Given the description of an element on the screen output the (x, y) to click on. 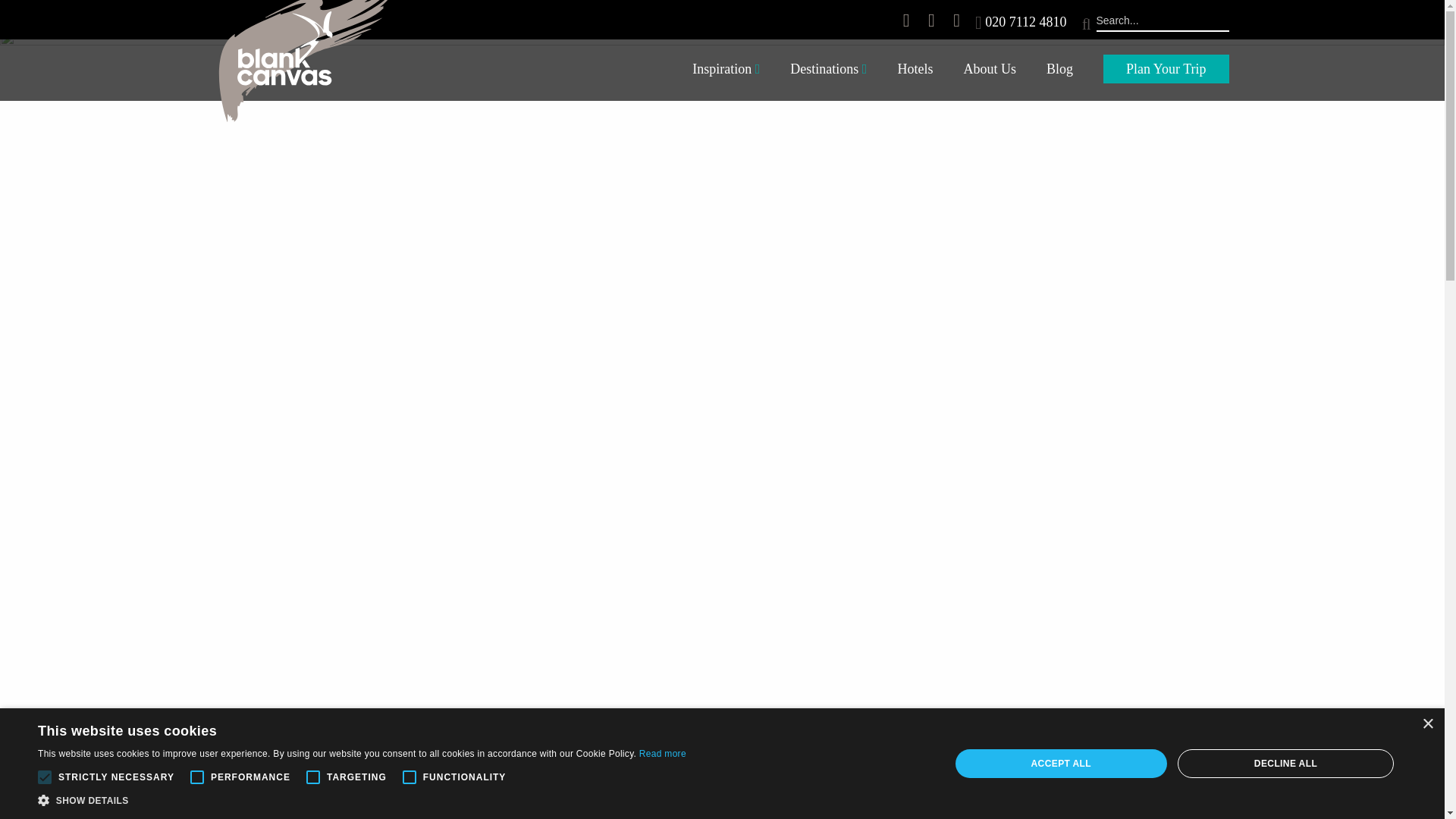
Customer reviews powered by Trustpilot (512, 22)
020 7112 4810 (1025, 21)
Inspiration (725, 69)
Destinations (828, 69)
